Given the description of an element on the screen output the (x, y) to click on. 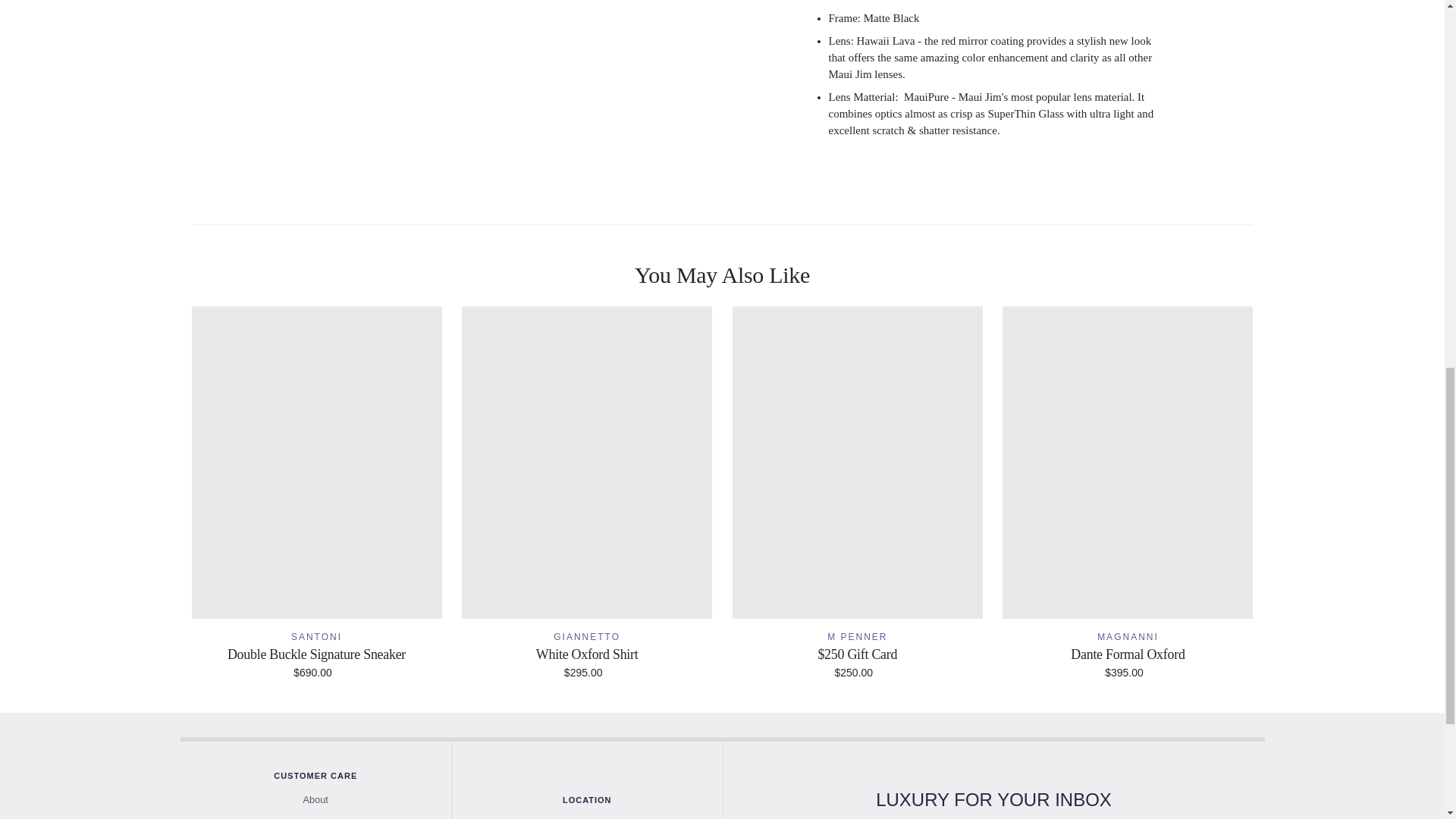
M PENNER (856, 636)
Giannetto (586, 636)
Santoni (316, 636)
